Given the description of an element on the screen output the (x, y) to click on. 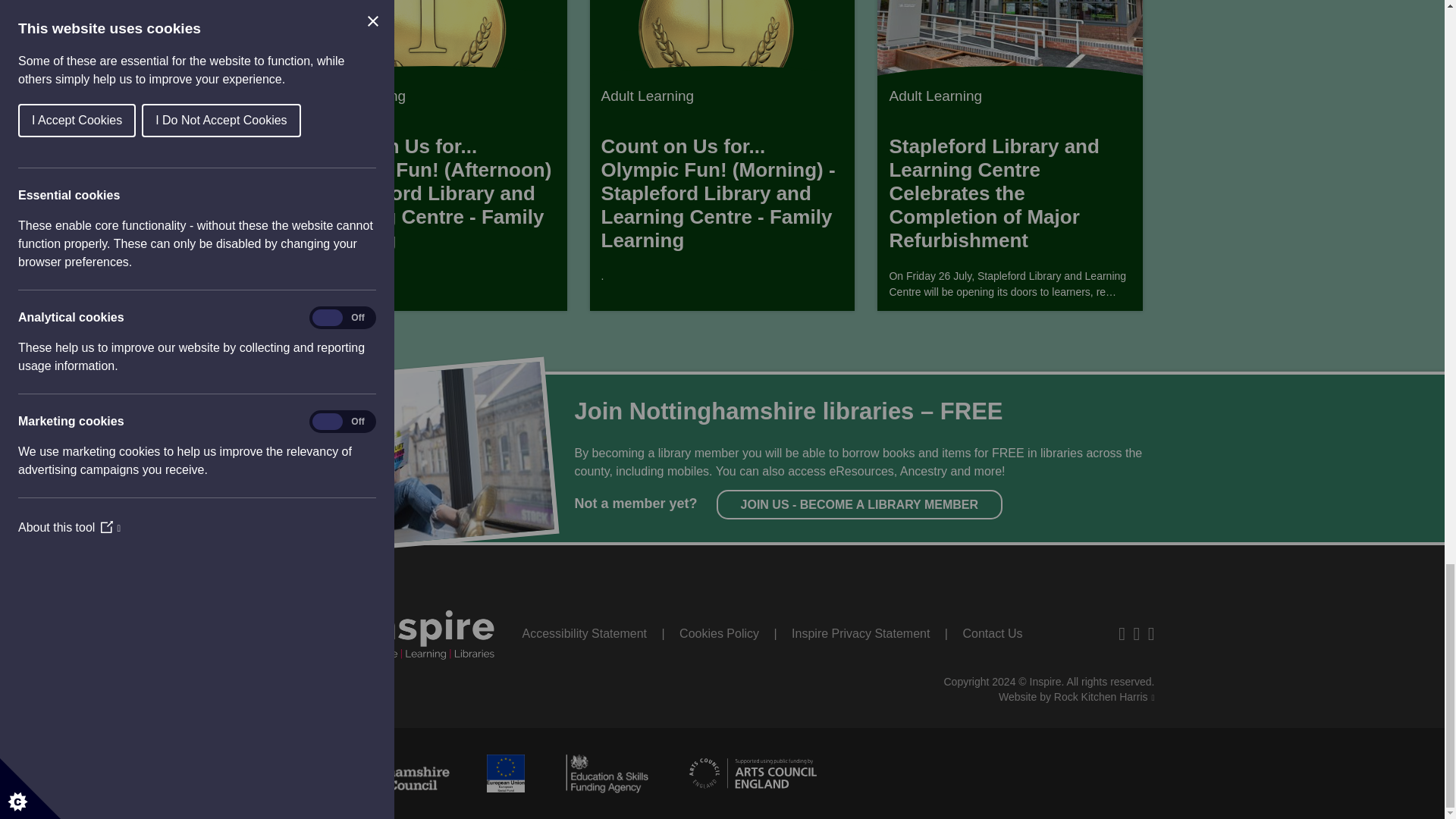
Web design and development, Leicester (1076, 696)
Go to home page (405, 628)
